Given the description of an element on the screen output the (x, y) to click on. 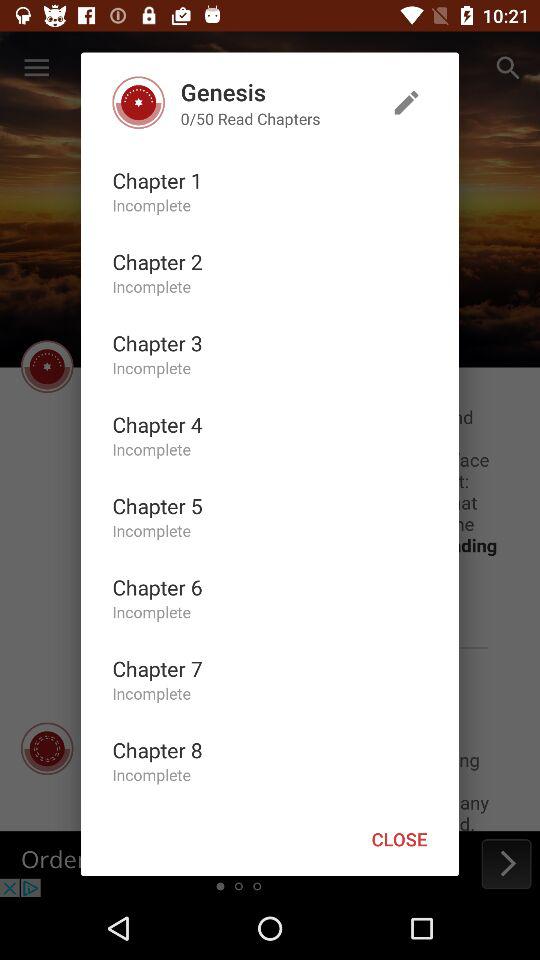
click item next to genesis item (406, 102)
